Given the description of an element on the screen output the (x, y) to click on. 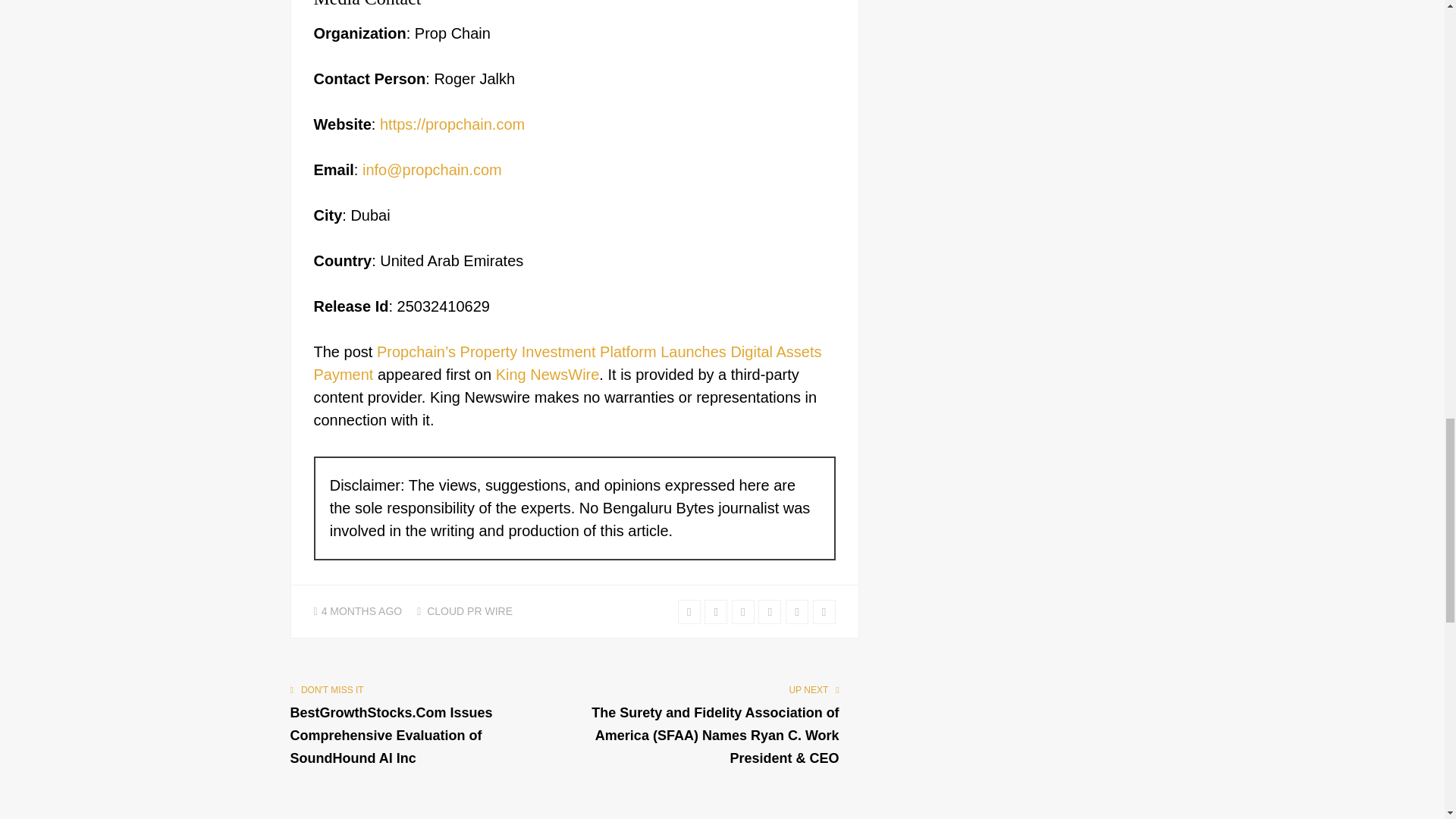
4 MONTHS (348, 611)
CLOUD PR WIRE (469, 611)
Facebook (715, 611)
Twitter (689, 611)
LinkedIn (769, 611)
Pinterest (797, 611)
King NewsWire (547, 374)
Email (823, 611)
